Given the description of an element on the screen output the (x, y) to click on. 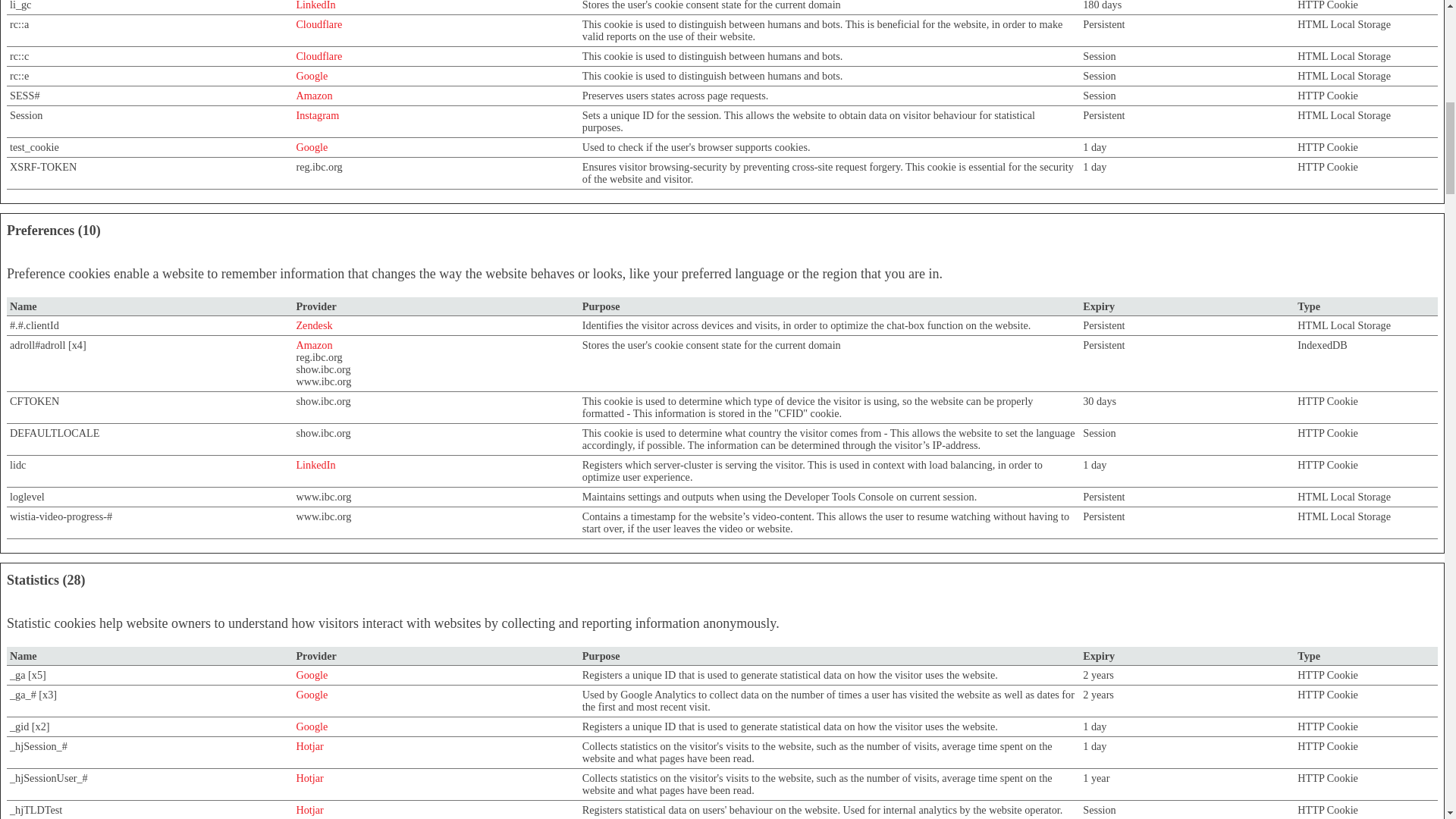
Instagram's privacy policy (317, 114)
LinkedIn (314, 5)
Instagram (317, 114)
Hotjar (309, 809)
Hotjar (309, 746)
Google (311, 75)
Google (311, 146)
Cloudflare (318, 24)
LinkedIn's privacy policy (314, 5)
Google (311, 674)
